Given the description of an element on the screen output the (x, y) to click on. 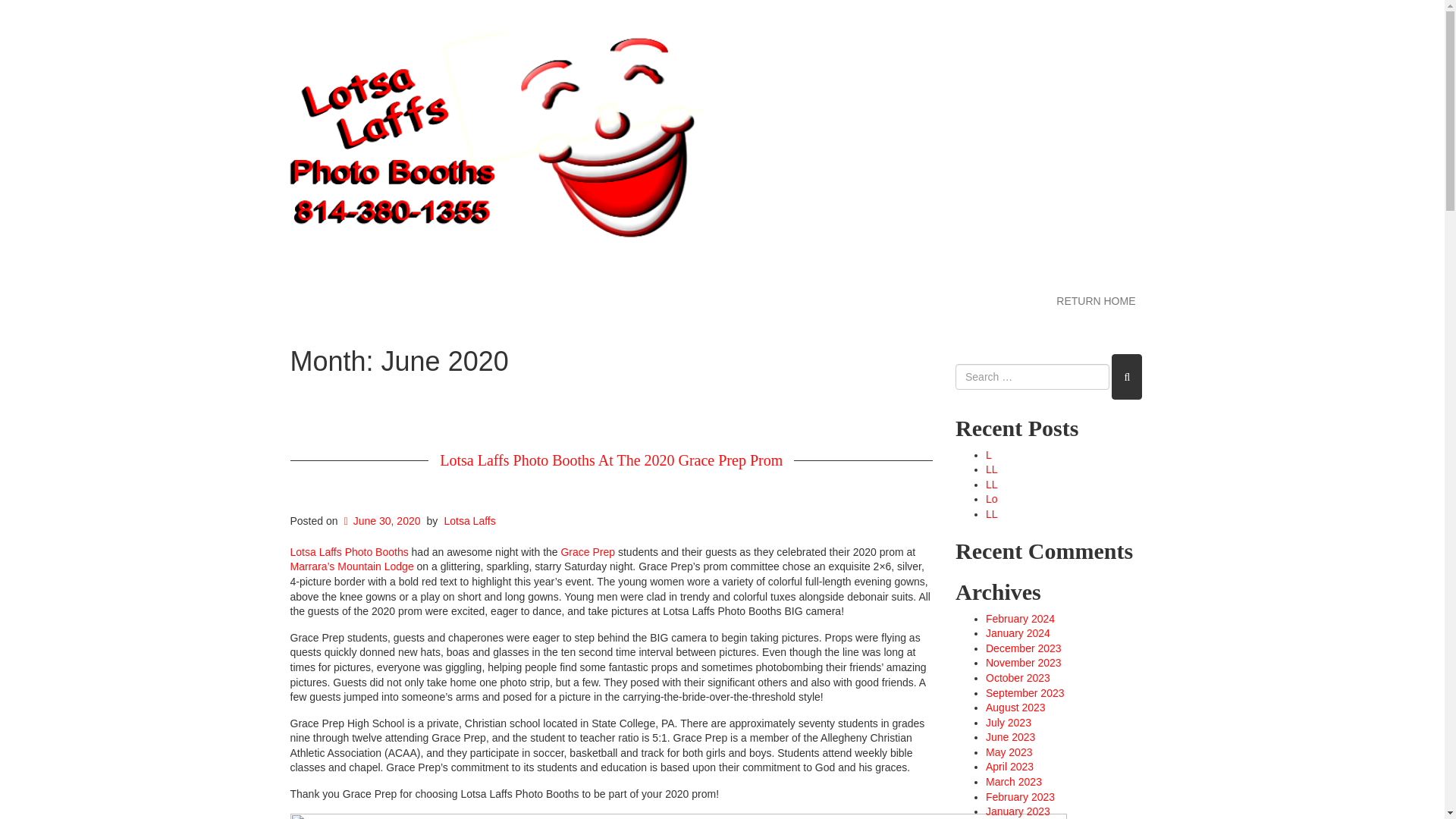
July 2023 (1007, 722)
Lotsa Laffs (469, 521)
LL (991, 469)
Grace Prep (587, 551)
June 2023 (1010, 736)
February 2024 (1019, 618)
January 2024 (1017, 633)
August 2023 (1015, 707)
April 2023 (1009, 766)
November 2023 (1023, 662)
